Given the description of an element on the screen output the (x, y) to click on. 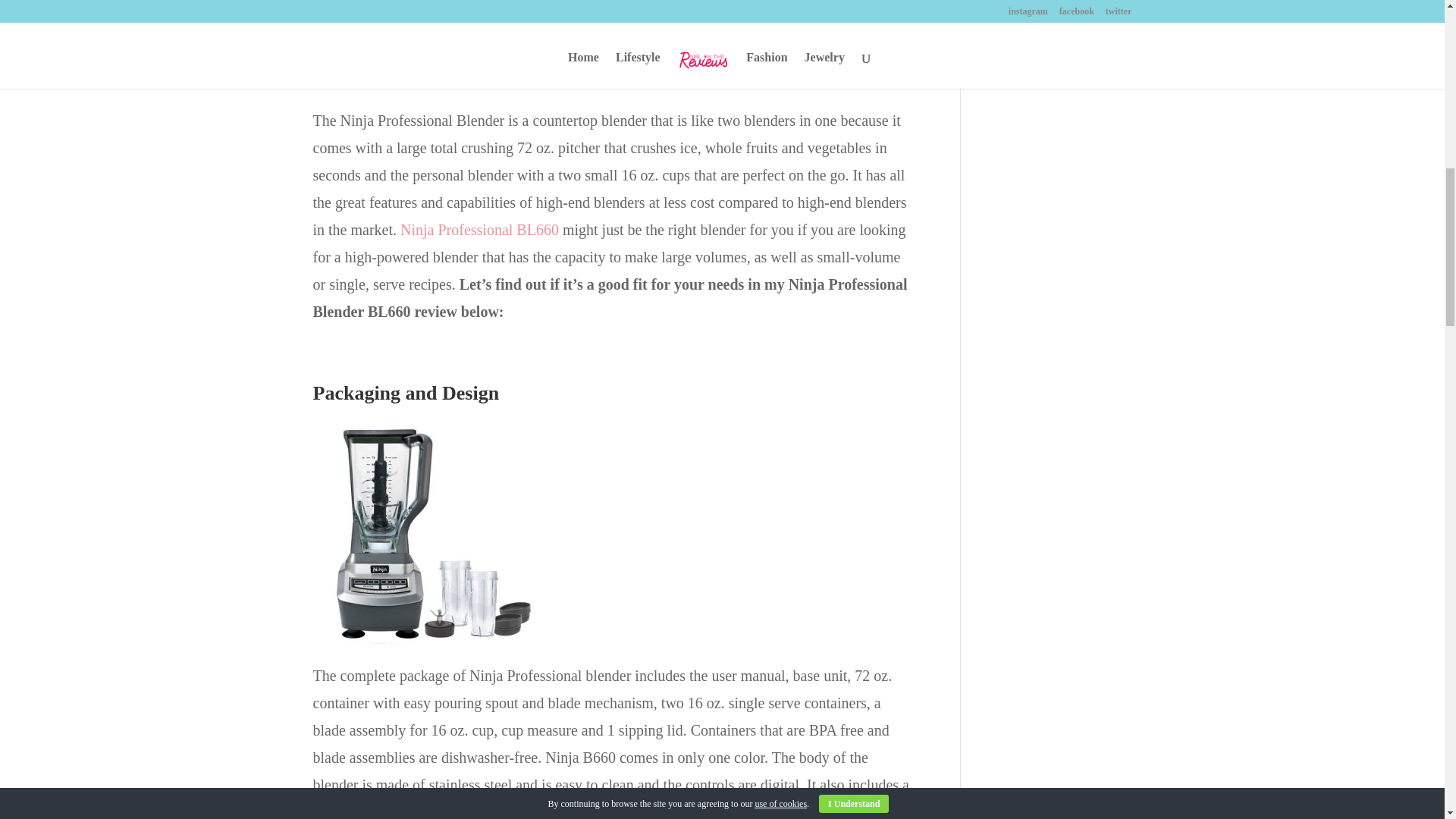
4 Verdict (346, 1)
5.1 Ninja Professional Blender BL660 (418, 54)
Ninja Professional BL660 (479, 229)
5 FAQs (342, 25)
